Given the description of an element on the screen output the (x, y) to click on. 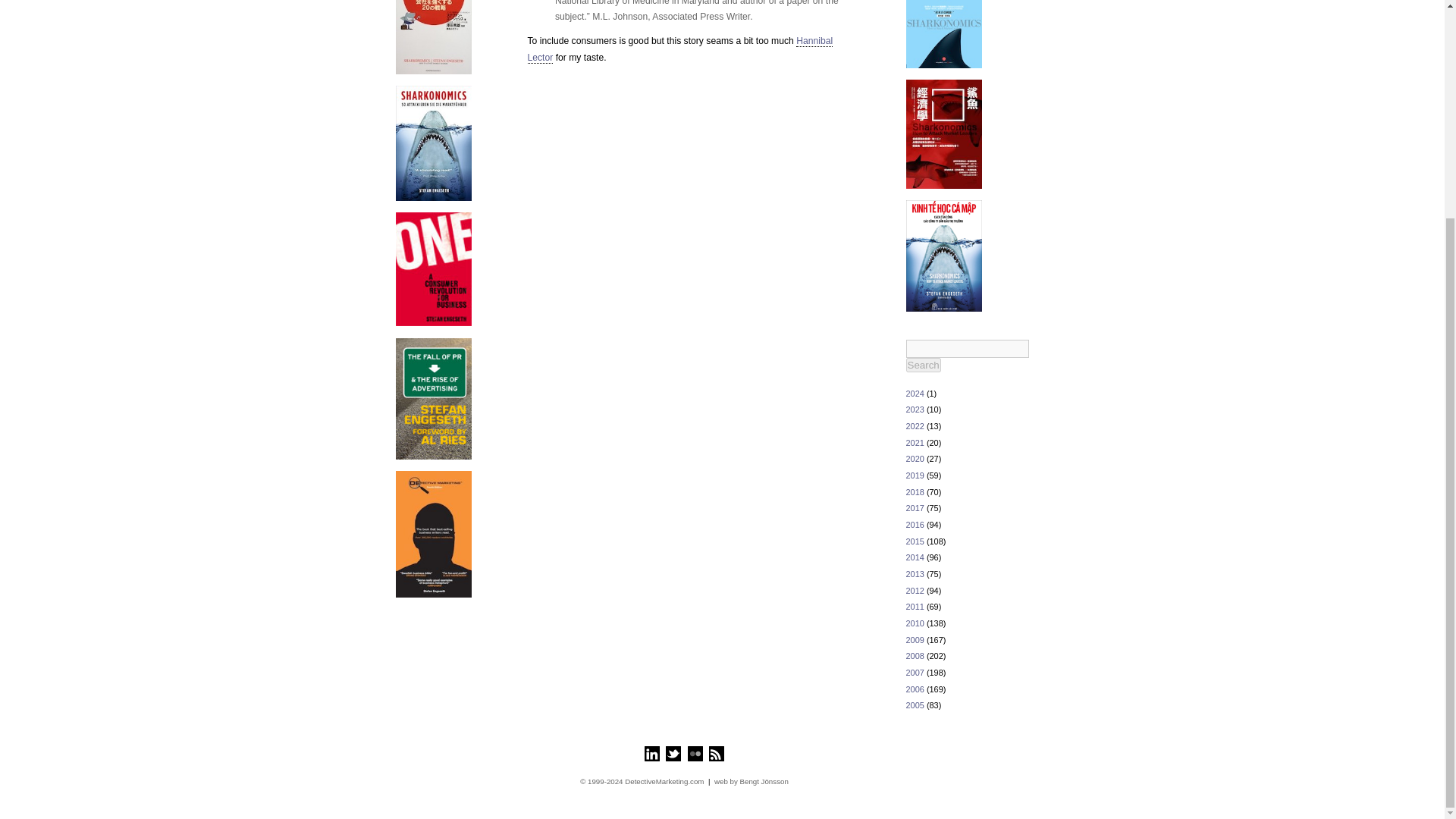
Search (922, 364)
Stefan on Flickr (695, 753)
Hannibal Lector (679, 49)
Stefan on Twitter (673, 753)
RSS (716, 753)
Stefan on Linkedin (652, 753)
